Given the description of an element on the screen output the (x, y) to click on. 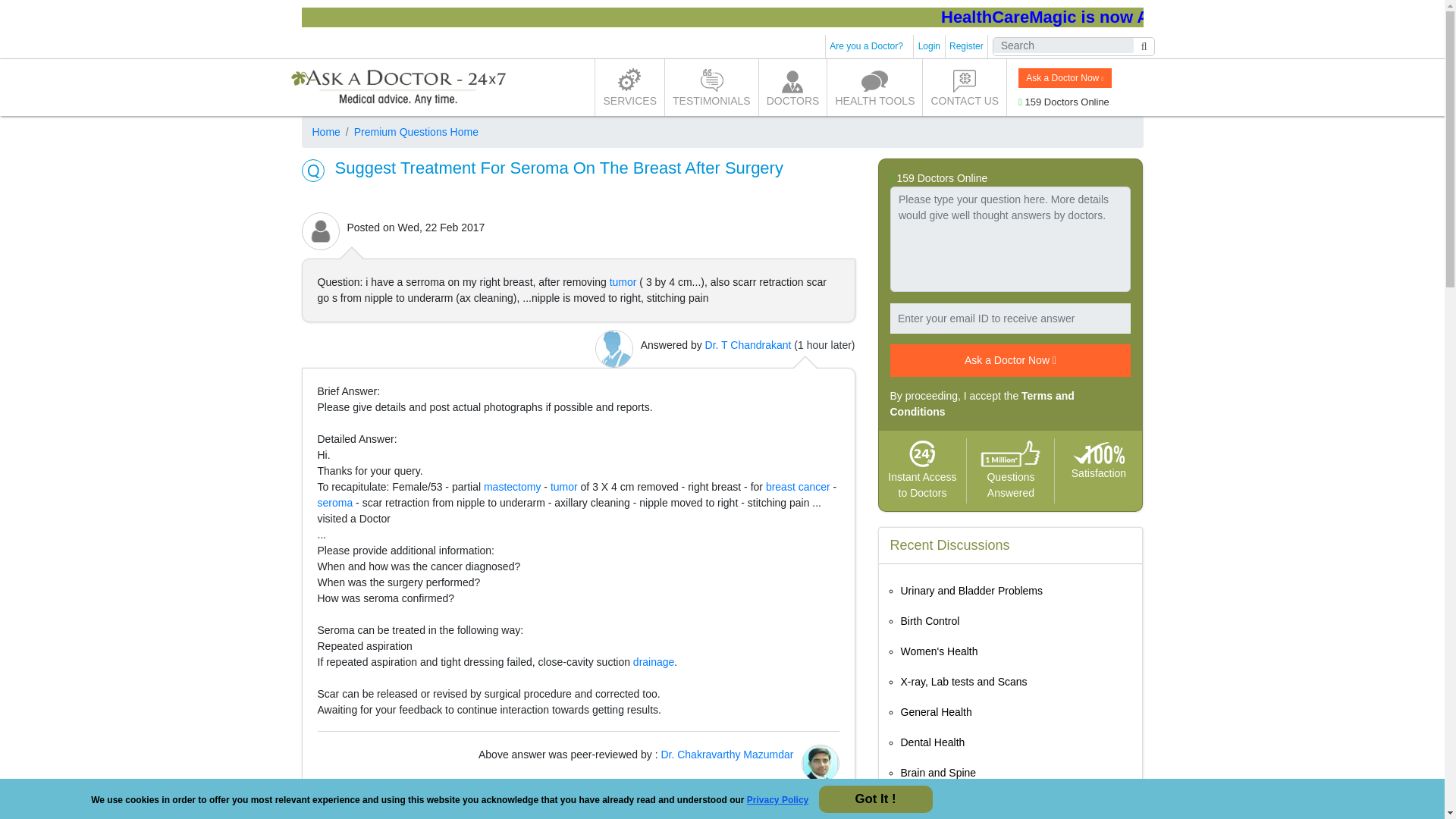
Login (929, 45)
drainage (654, 662)
Dr. T Chandrakant (748, 345)
seroma (334, 502)
Ask a Doctor Now (1063, 77)
CONTACT US (964, 87)
tumor (564, 486)
Premium Questions Home (409, 132)
SERVICES (629, 87)
mastectomy (511, 486)
